Given the description of an element on the screen output the (x, y) to click on. 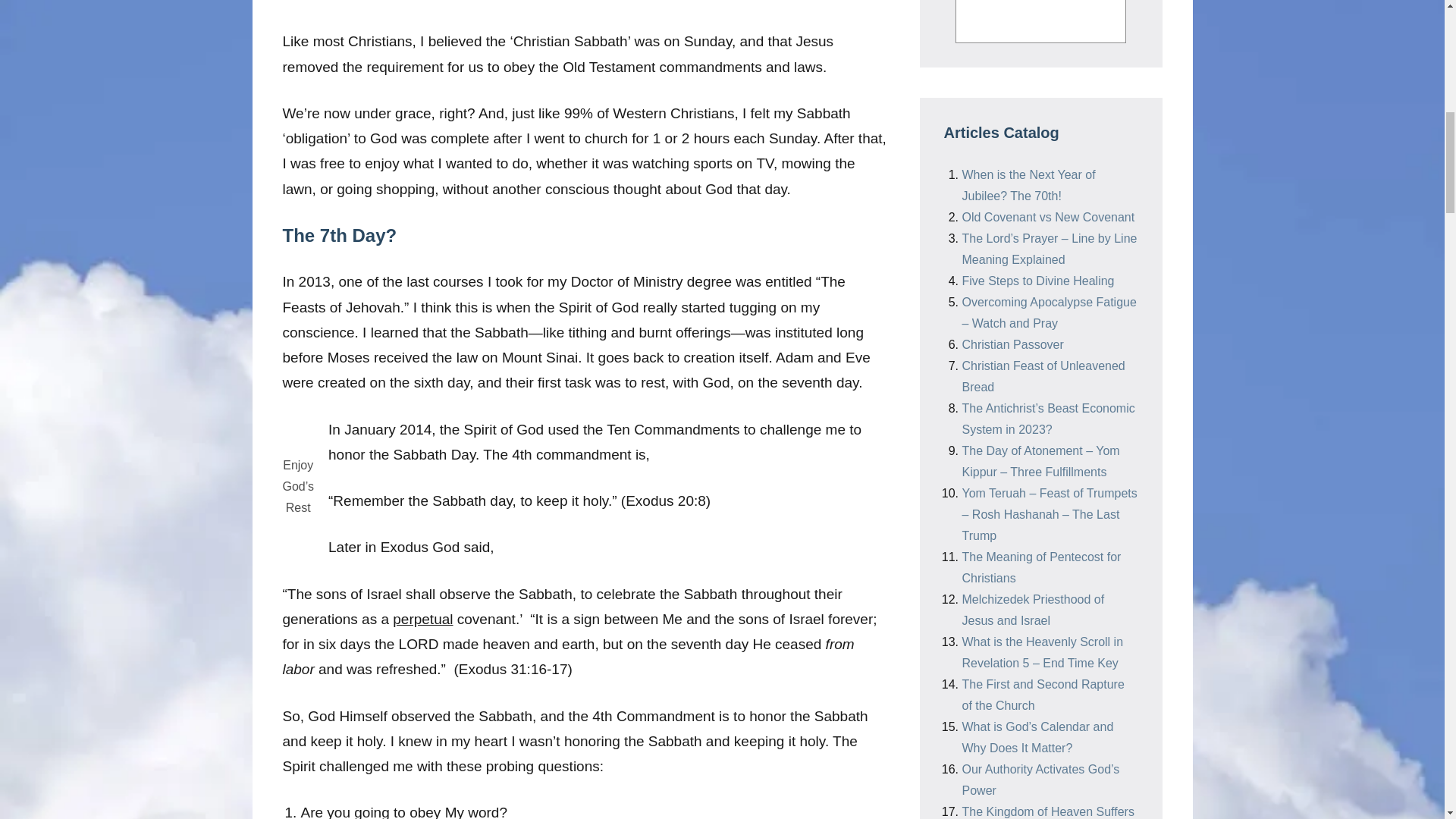
Old Covenant vs New Covenant (1047, 216)
Five Steps to Divine Healing (1036, 280)
When is the Next Year of Jubilee? The 70th! (1027, 185)
Christian Feast of Unleavened Bread (1042, 376)
Christian Passover (1011, 344)
